Given the description of an element on the screen output the (x, y) to click on. 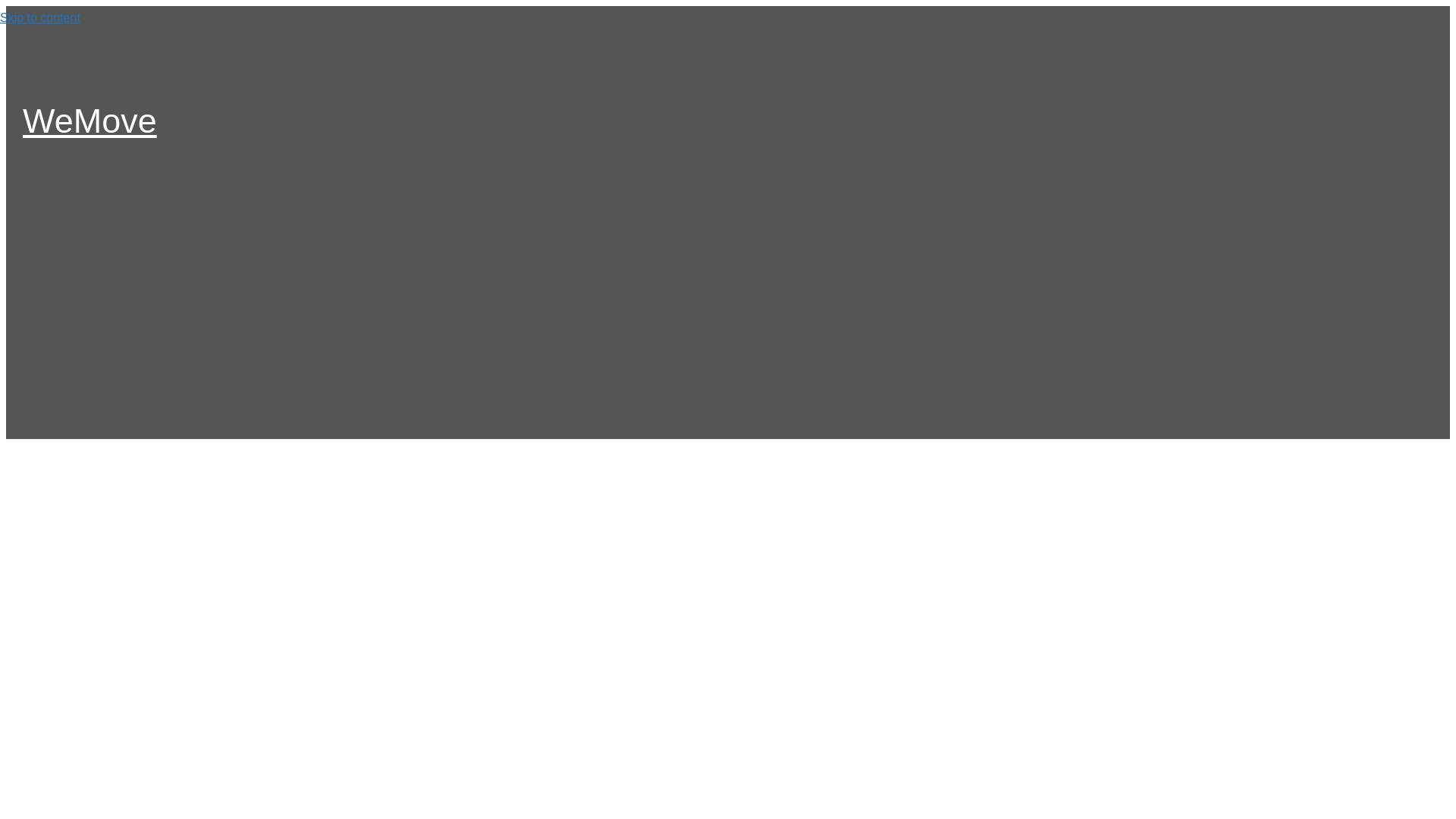
Skip to content (40, 17)
Skip to content (40, 17)
WeMove (90, 120)
